Given the description of an element on the screen output the (x, y) to click on. 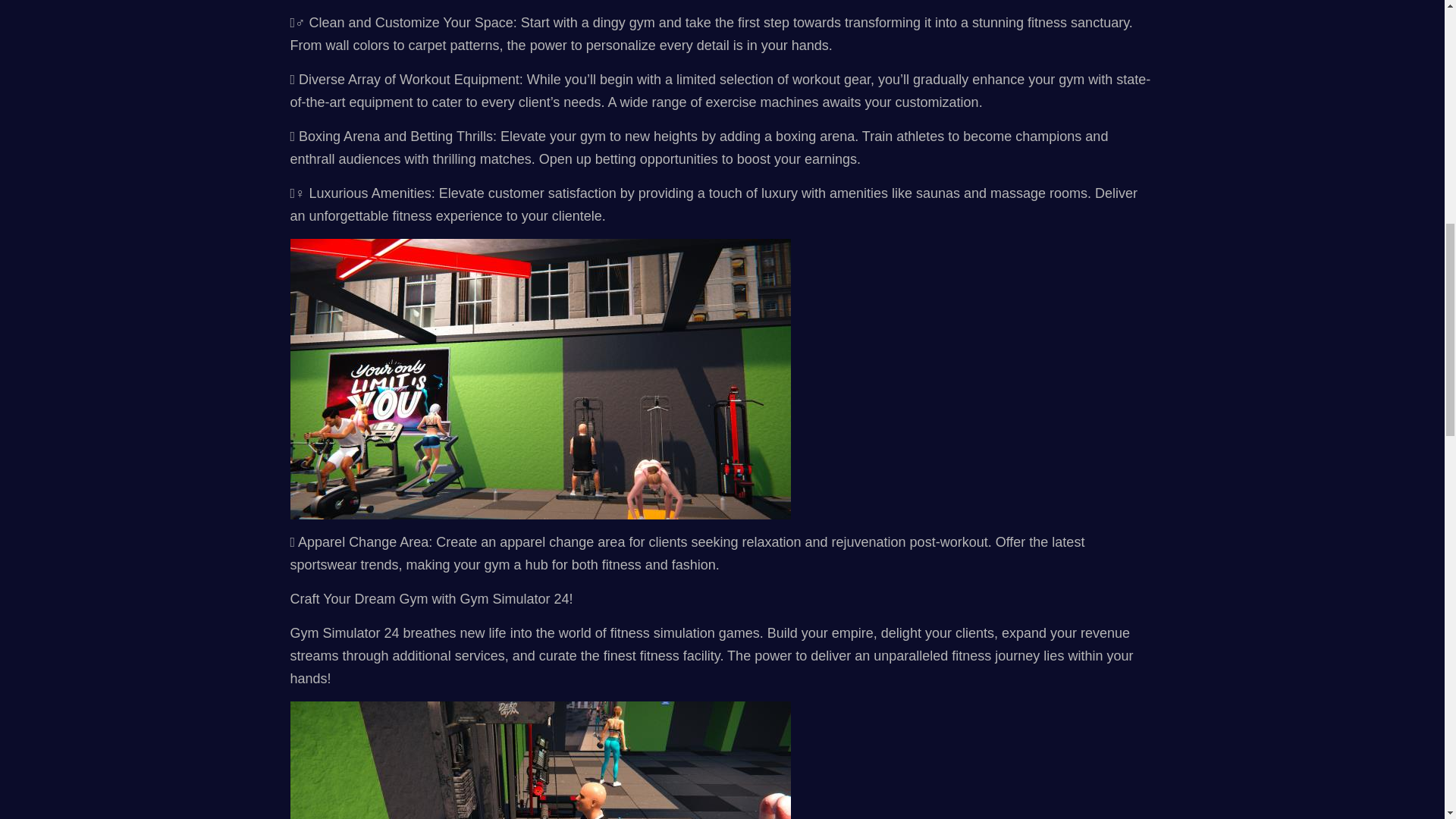
Gym Simulator 24 PC Crack (539, 760)
